Given the description of an element on the screen output the (x, y) to click on. 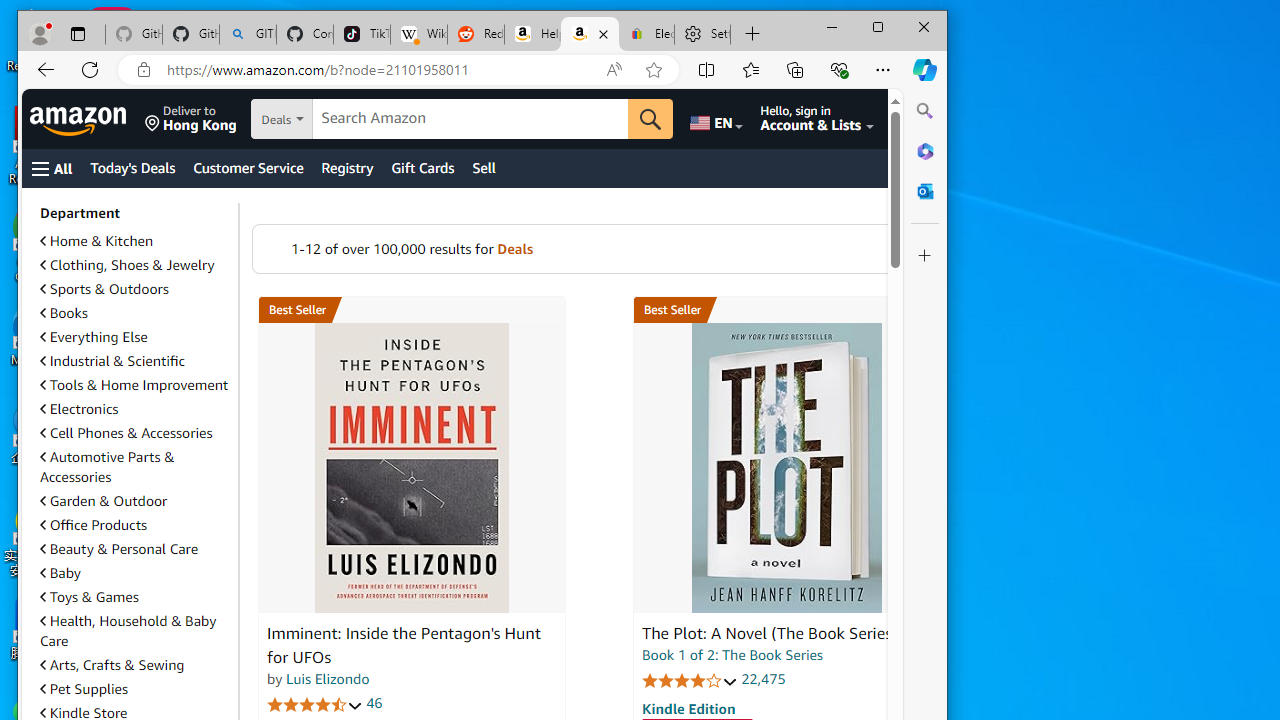
Beauty & Personal Care (135, 548)
Clothing, Shoes & Jewelry (127, 265)
Everything Else (93, 337)
Imminent: Inside the Pentagon's Hunt for UFOs (404, 646)
Pet Supplies (83, 688)
Best Seller in Unexplained Mysteries (411, 309)
Best Seller in Heist Thrillers (786, 309)
Customer Service (248, 168)
